Given the description of an element on the screen output the (x, y) to click on. 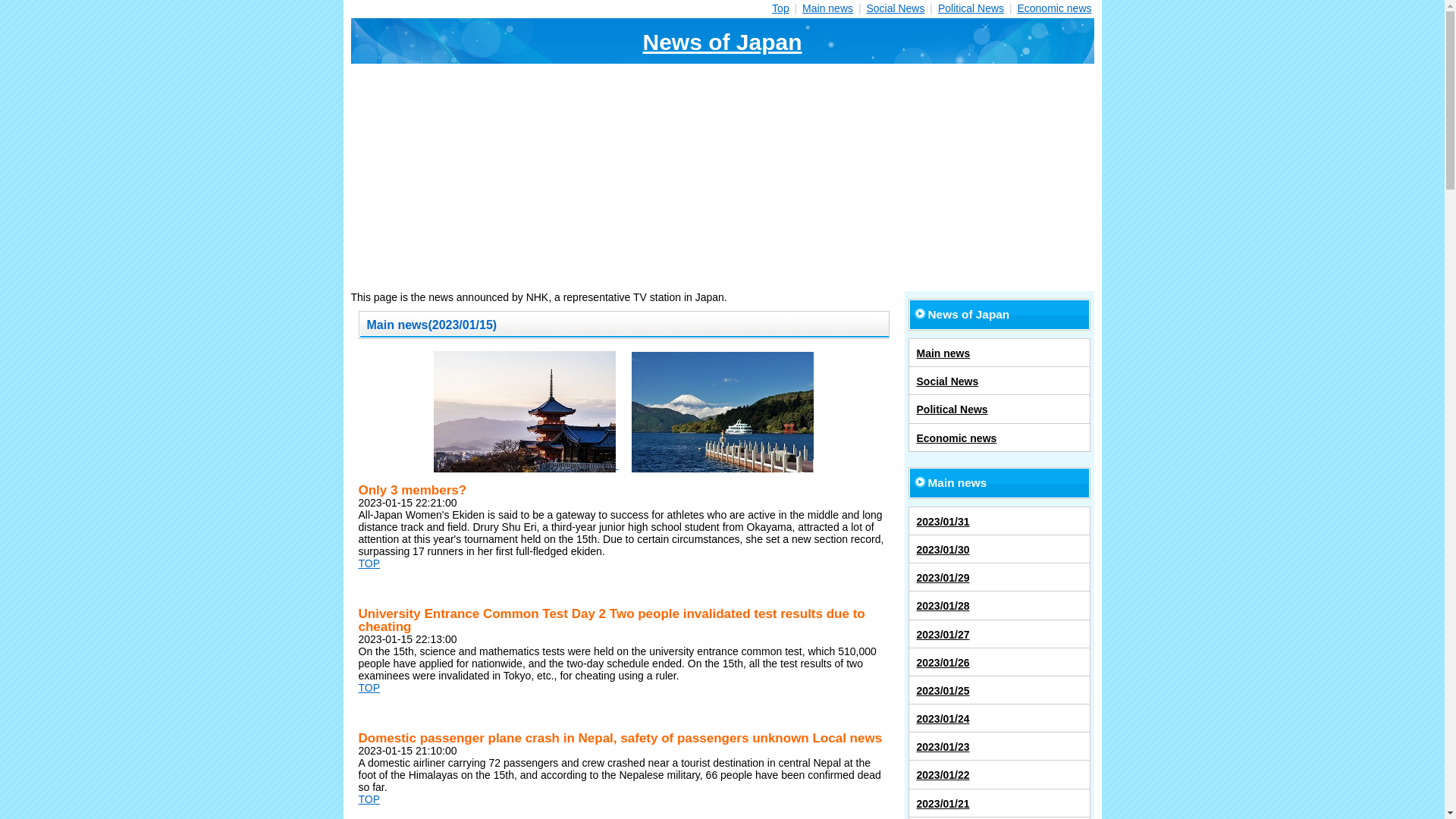
Economic news (1053, 8)
Main news (827, 8)
Top (780, 8)
News of Japan (721, 40)
TOP (369, 563)
Political News (970, 8)
TOP (369, 687)
Social News (895, 8)
TOP (369, 799)
